Given the description of an element on the screen output the (x, y) to click on. 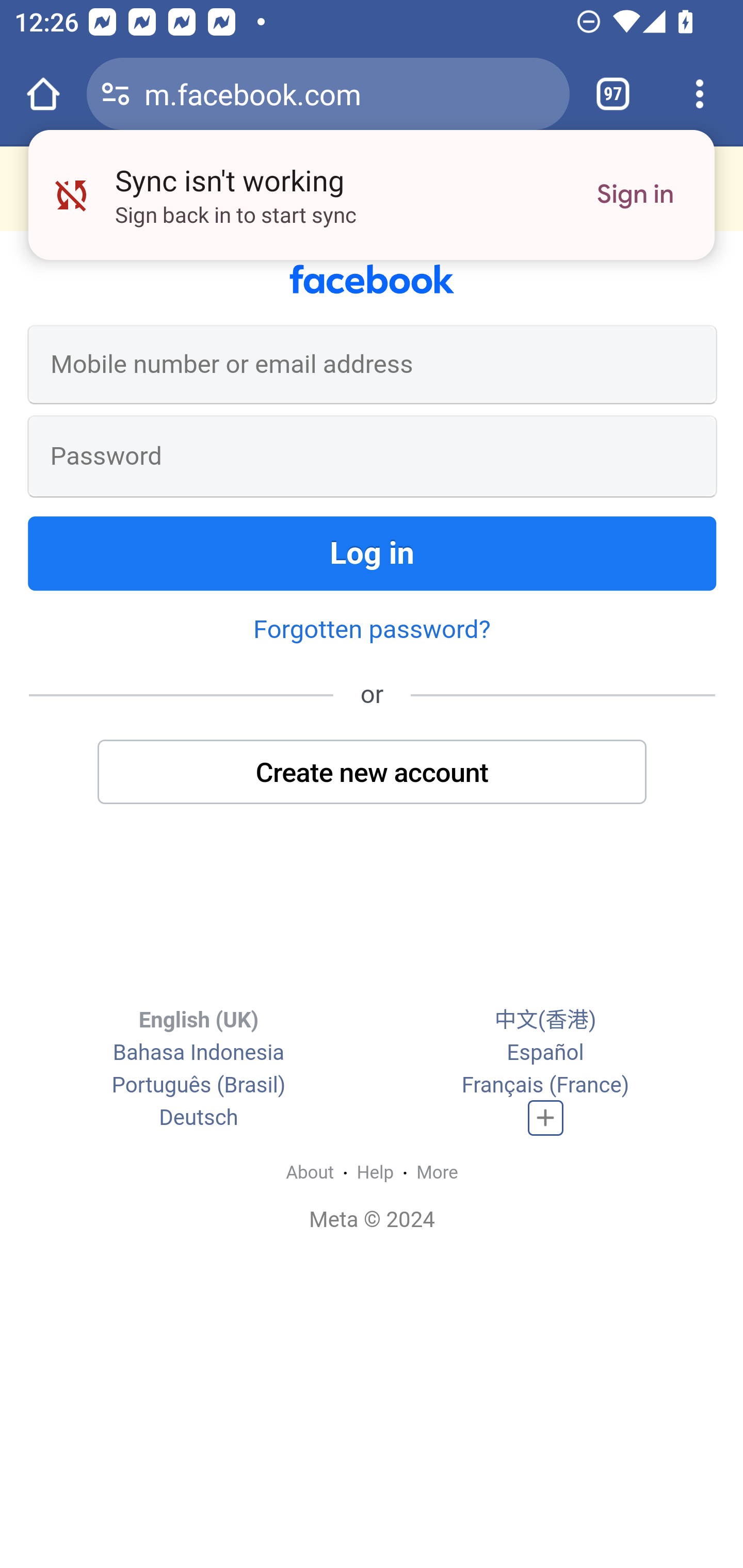
Open the home page (43, 93)
Connection is secure (115, 93)
Switch or close tabs (612, 93)
Customize and control Google Chrome (699, 93)
m.facebook.com (349, 92)
Sign in (634, 195)
Get Facebook for Android and browse faster. (371, 188)
facebook (372, 279)
Log in (372, 552)
Forgotten password? (371, 628)
Create new account (372, 771)
中文(香港) (544, 1020)
Bahasa Indonesia (198, 1052)
Español (545, 1052)
Português (Brasil) (197, 1085)
Français (France) (544, 1085)
Complete list of languages (545, 1117)
Deutsch (198, 1118)
About (310, 1171)
Help (375, 1171)
